Given the description of an element on the screen output the (x, y) to click on. 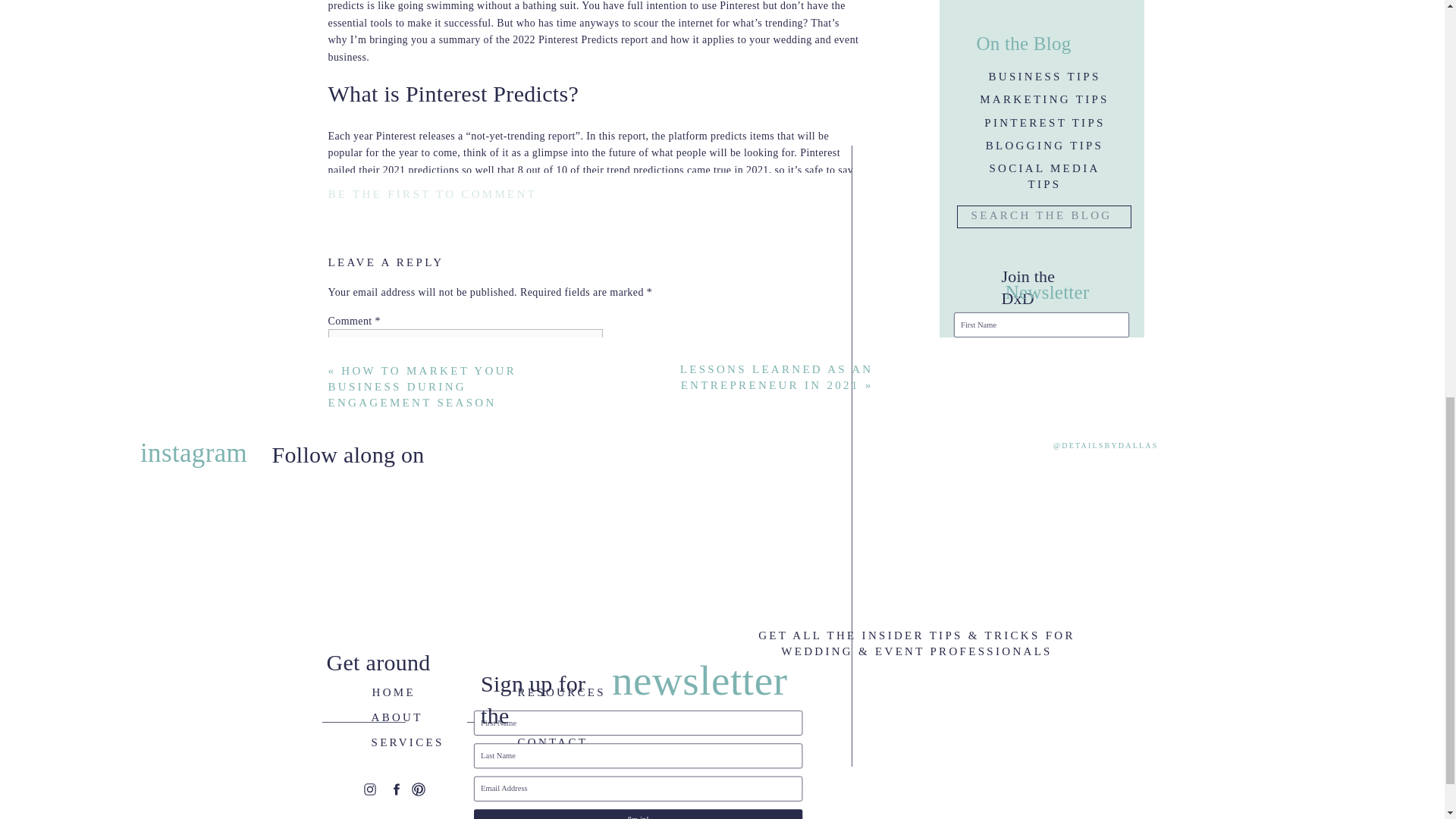
MARKETING TIPS (1045, 96)
LESSONS LEARNED AS AN ENTREPRENEUR IN 2021 (776, 377)
HOW TO MARKET YOUR BUSINESS DURING ENGAGEMENT SEASON (421, 386)
BUSINESS TIPS (1043, 73)
BLOGGING TIPS (1043, 143)
Post Comment (367, 693)
PINTEREST TIPS (1044, 120)
I'm in! (1078, 426)
I'm in! (1040, 380)
yes (335, 631)
